Given the description of an element on the screen output the (x, y) to click on. 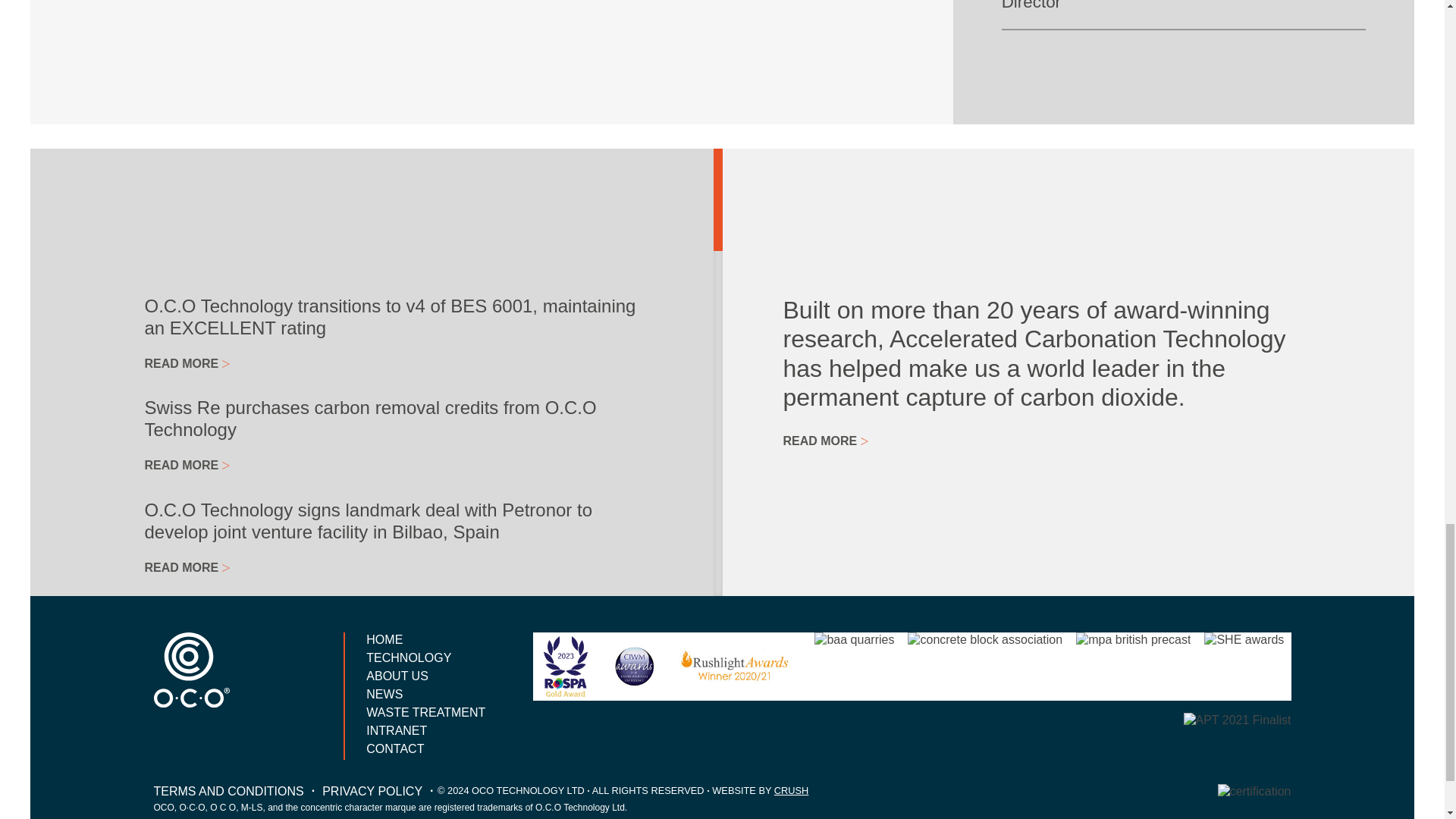
READ MORE (187, 727)
READ MORE (187, 807)
READ MORE (187, 464)
READ MORE (187, 363)
READ MORE (187, 646)
READ MORE (187, 567)
O.C.O welcomes a new UK Managing Director (1183, 4)
